Given the description of an element on the screen output the (x, y) to click on. 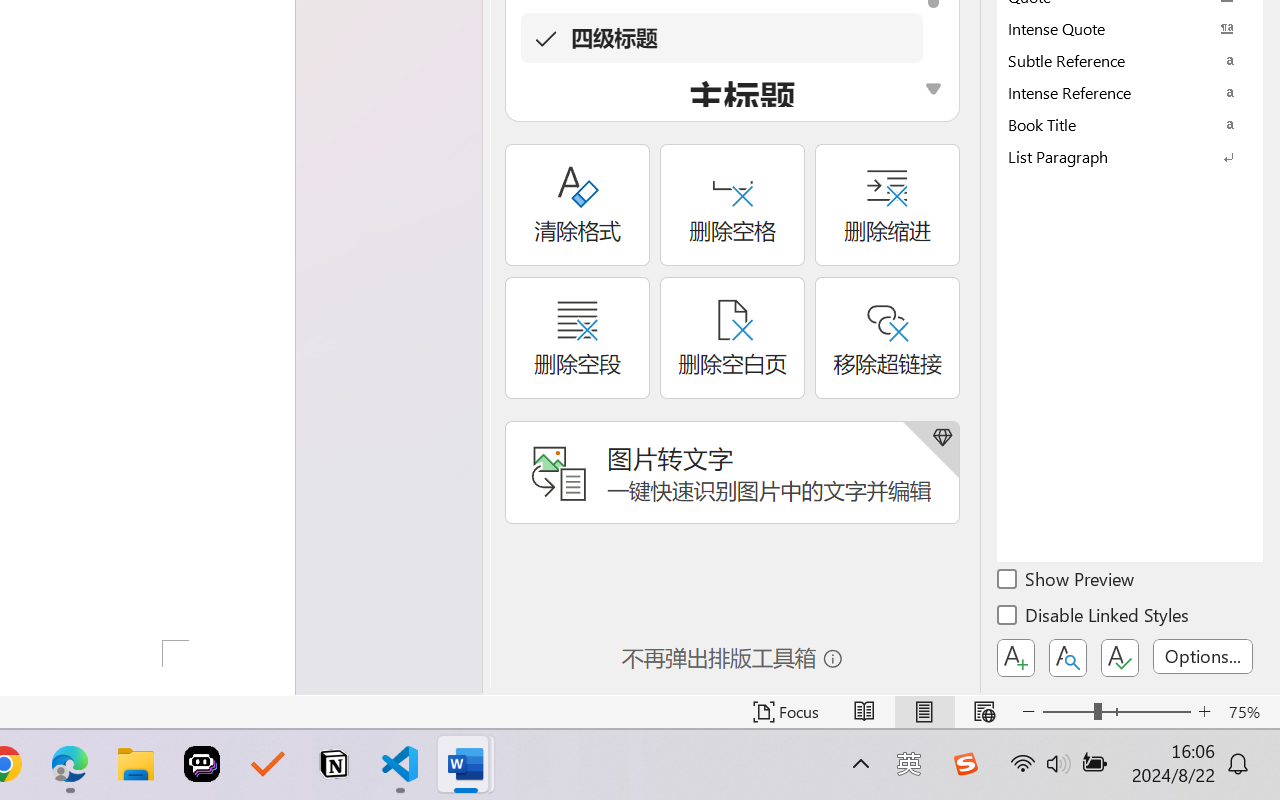
Zoom In (1204, 712)
Options... (1203, 656)
Class: NetUIImage (1116, 156)
Read Mode (864, 712)
Disable Linked Styles (1094, 618)
Zoom Out (1067, 712)
